Given the description of an element on the screen output the (x, y) to click on. 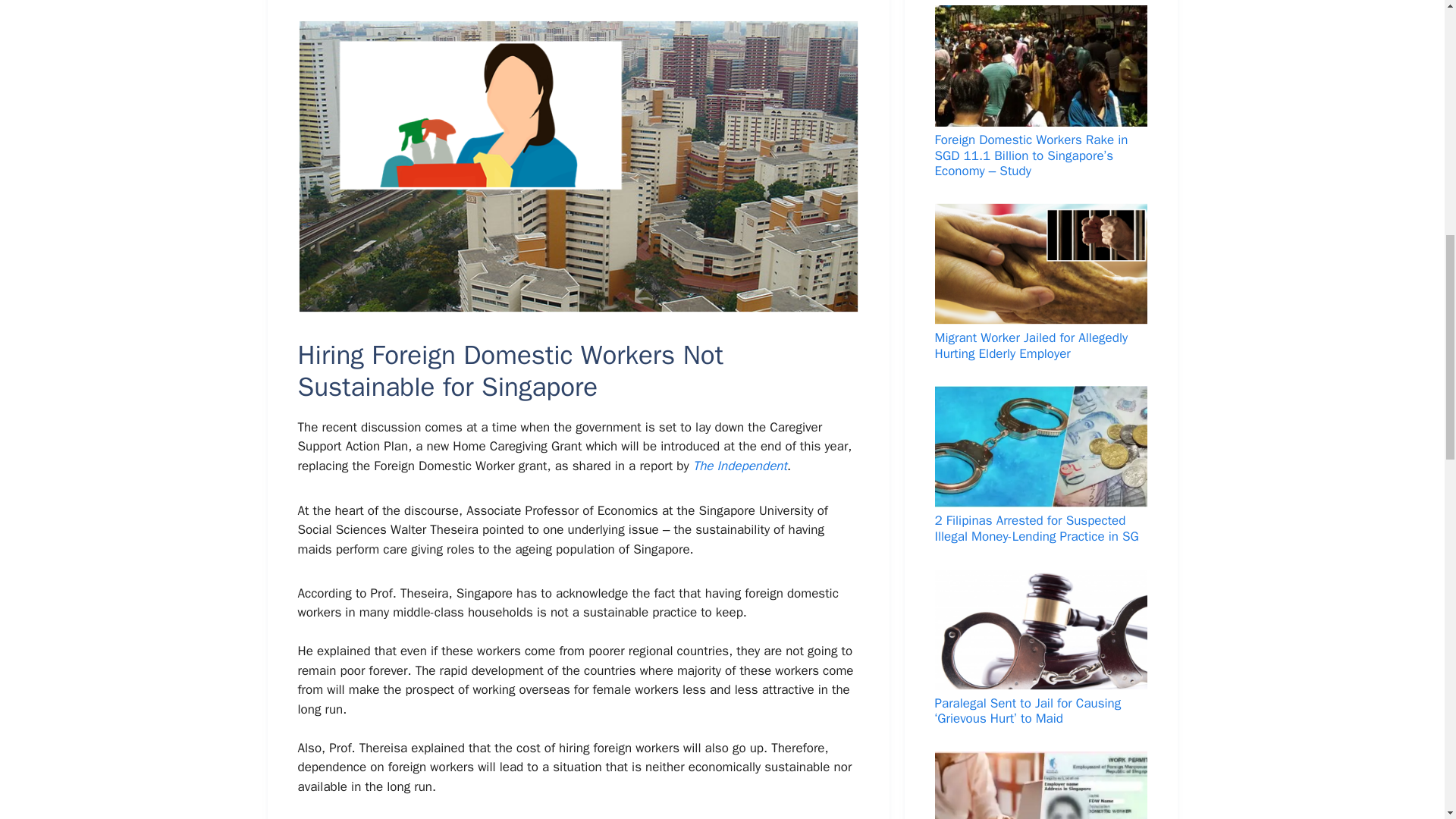
Migrant Worker Jailed for Allegedly Hurting Elderly Employer (1040, 282)
The Independent (740, 465)
How to Apply for Migrant Domestic Worker Permit in Singapore (1040, 785)
